Given the description of an element on the screen output the (x, y) to click on. 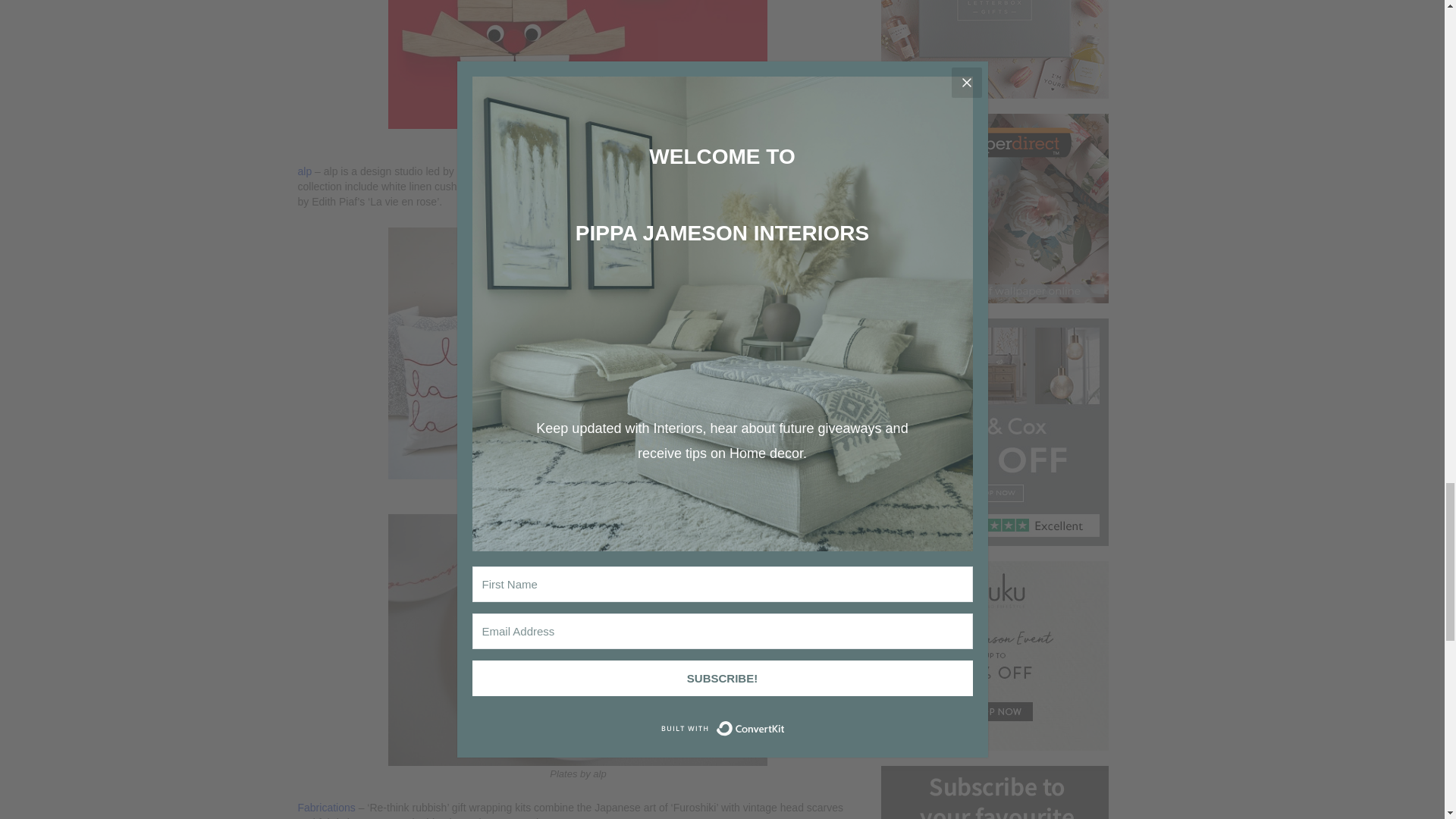
Play shapes (577, 64)
alp cushions  (577, 353)
alp (304, 171)
Fabrications (327, 807)
alp plates  (577, 639)
